Given the description of an element on the screen output the (x, y) to click on. 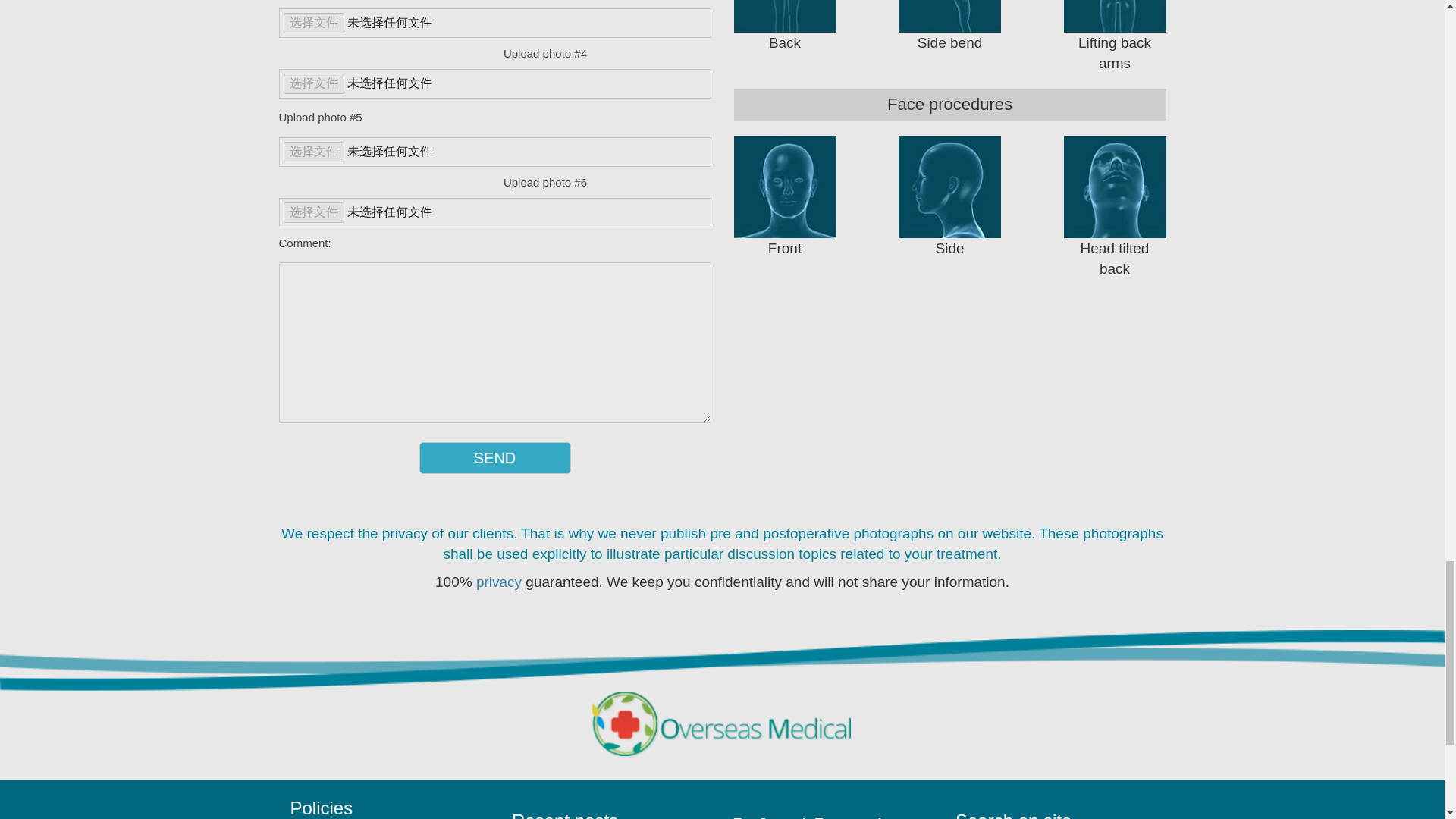
Send (494, 458)
